Given the description of an element on the screen output the (x, y) to click on. 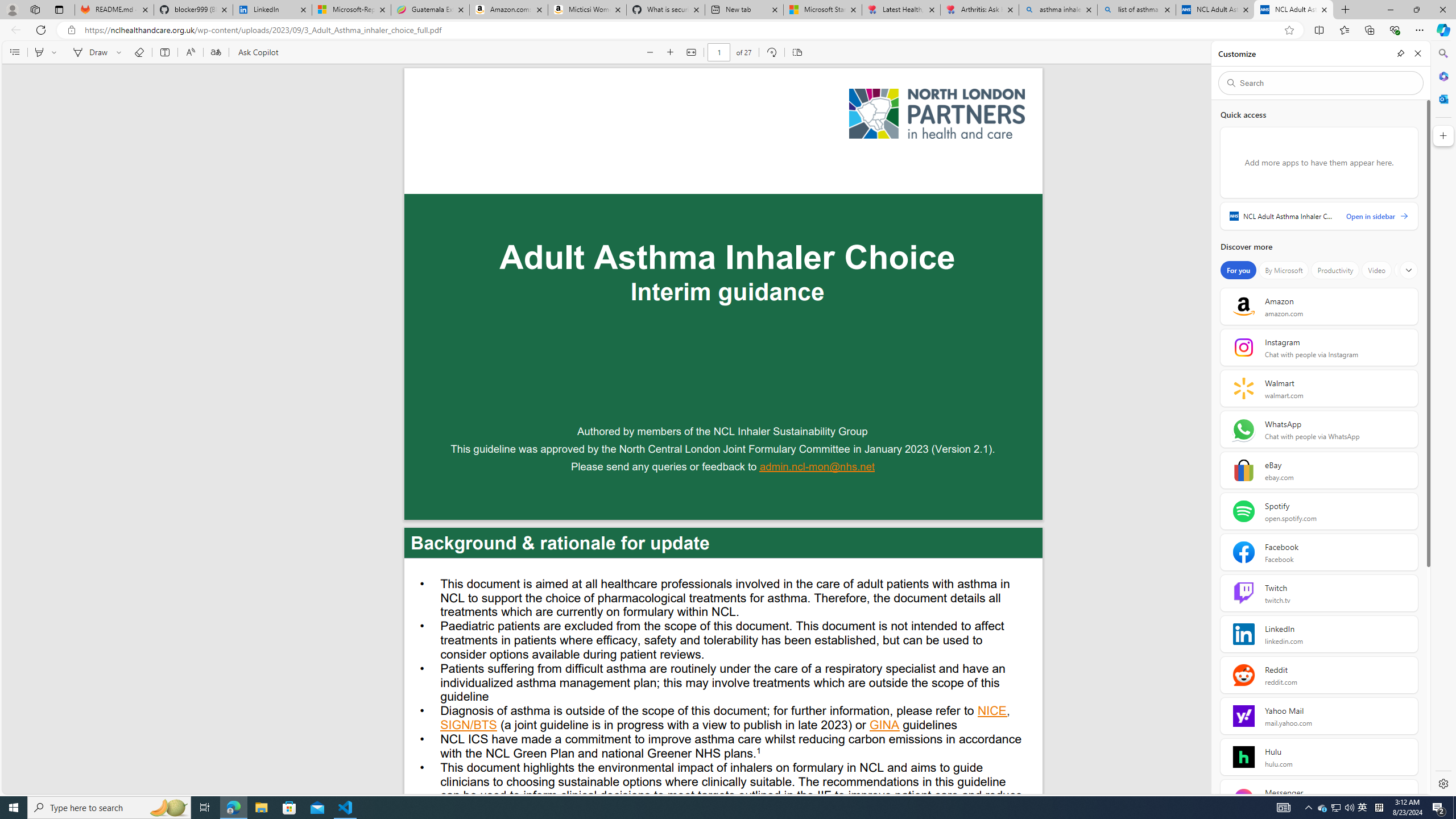
Read aloud (189, 52)
asthma inhaler - Search (1057, 9)
Select ink properties (120, 52)
admin.ncl-mon@nhs.net (817, 467)
Zoom out (Ctrl+Minus key) (650, 52)
Arthritis: Ask Health Professionals (979, 9)
Add text (164, 52)
Rotate (Ctrl+]) (771, 52)
